Given the description of an element on the screen output the (x, y) to click on. 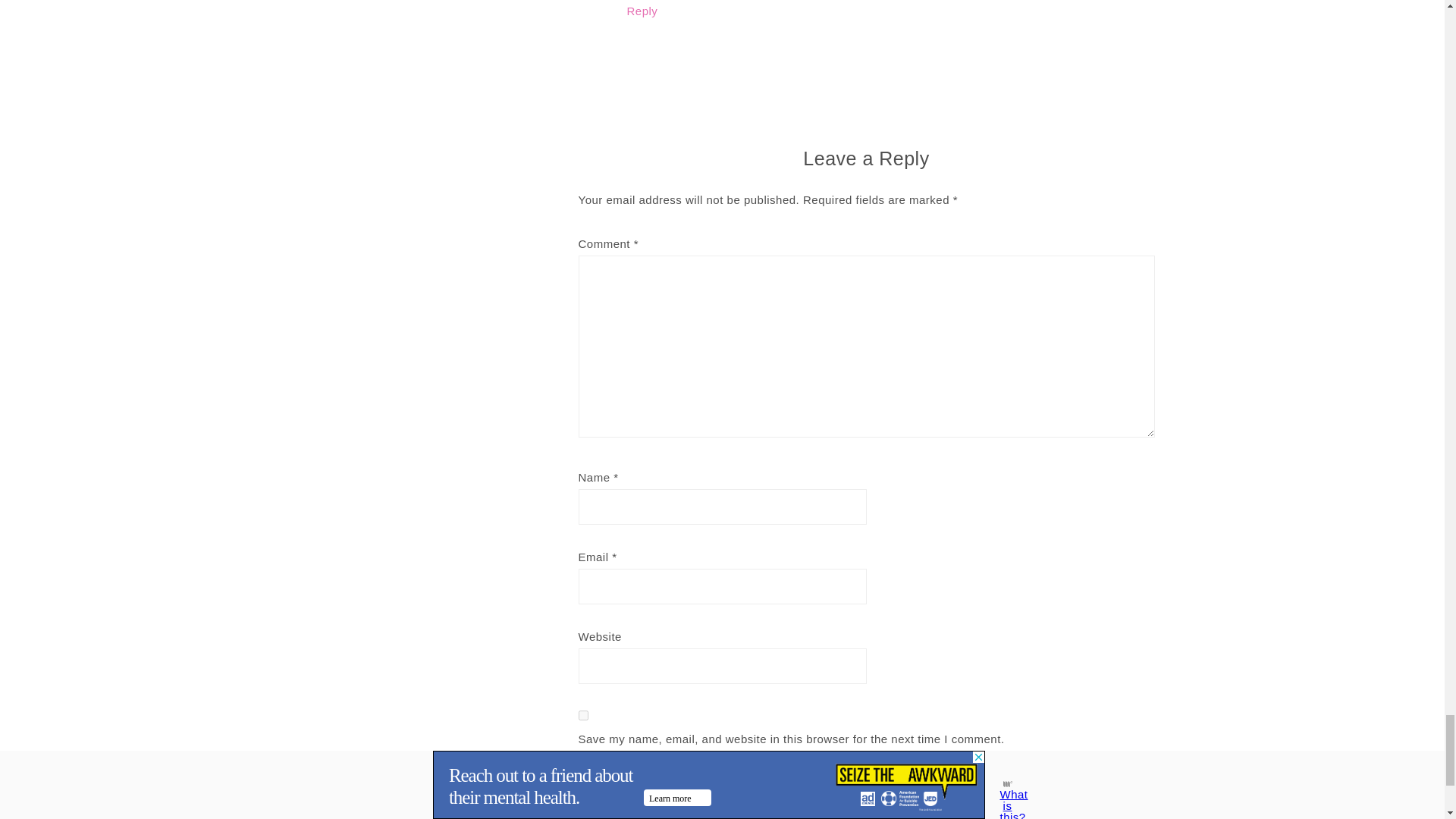
Post Comment (651, 787)
yes (583, 715)
